Given the description of an element on the screen output the (x, y) to click on. 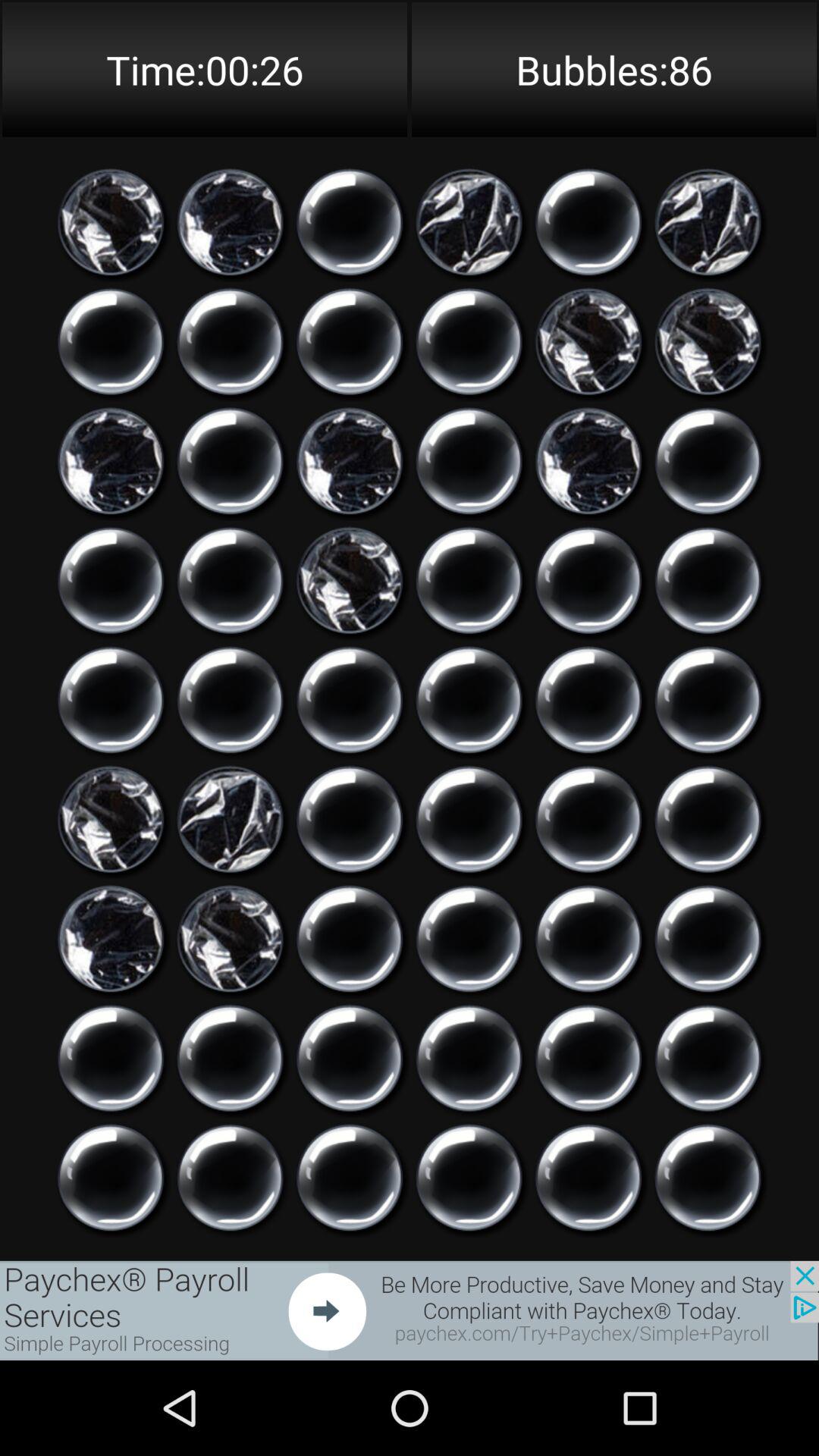
option (468, 1058)
